Given the description of an element on the screen output the (x, y) to click on. 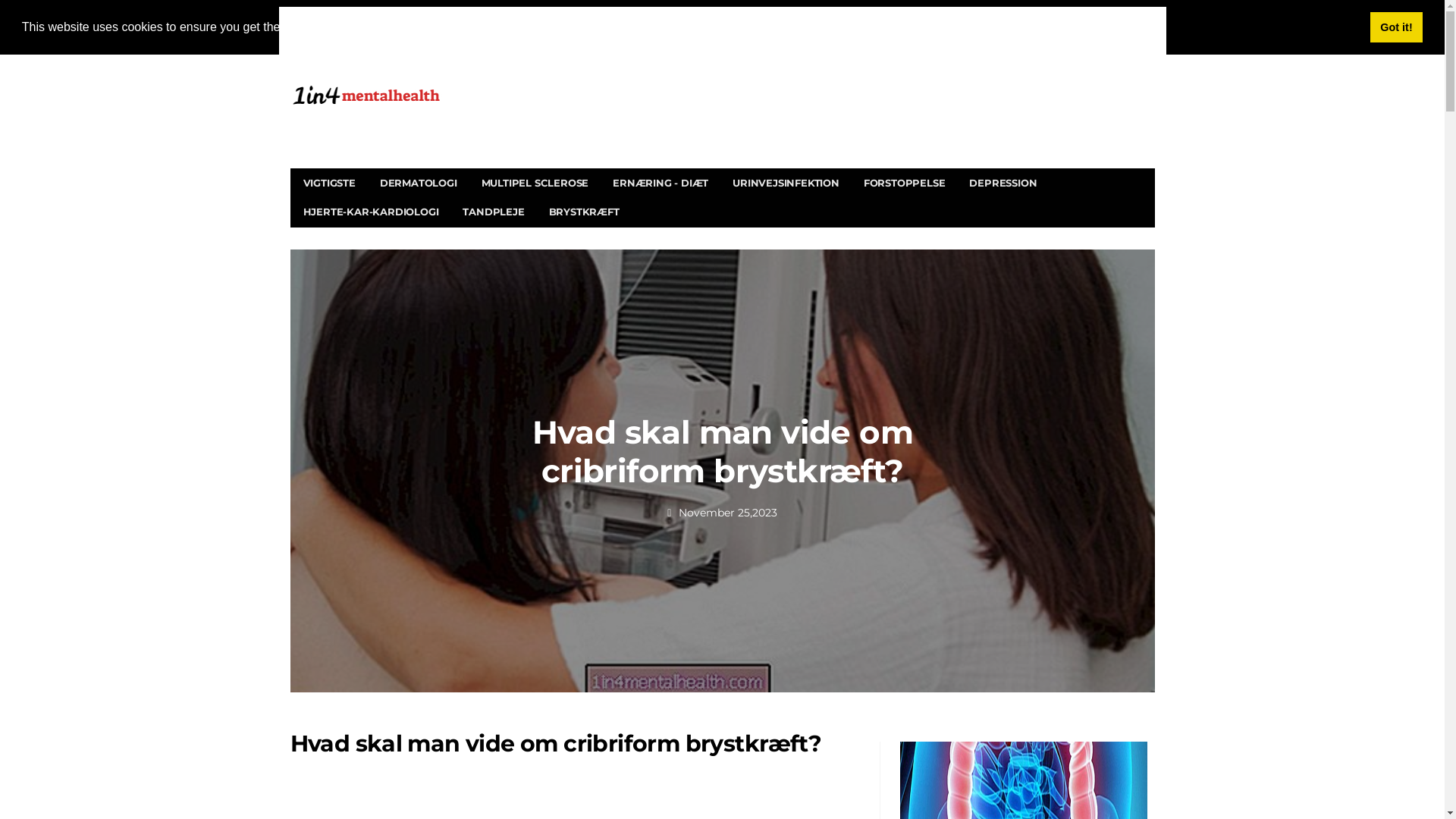
Learn more Element type: text (491, 26)
URINVEJSINFEKTION Element type: text (785, 182)
DEPRESSION Element type: text (1002, 182)
FORSTOPPELSE Element type: text (904, 182)
VIGTIGSTE Element type: text (329, 182)
DERMATOLOGI Element type: text (418, 182)
TANDPLEJE Element type: text (493, 211)
Got it! Element type: text (1396, 27)
HJERTE-KAR-KARDIOLOGI Element type: text (371, 211)
MULTIPEL SCLEROSE Element type: text (535, 182)
